Given the description of an element on the screen output the (x, y) to click on. 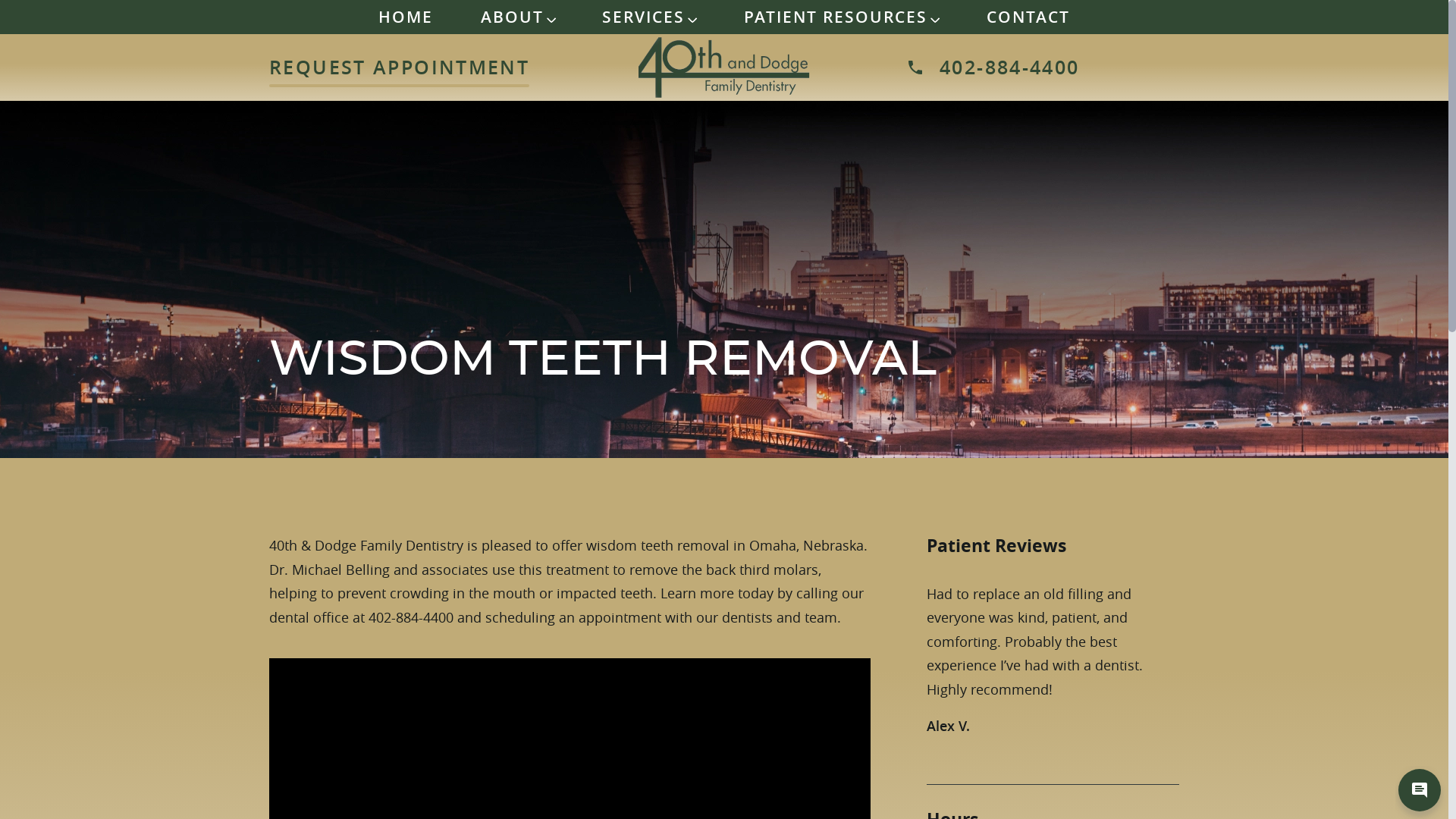
ABOUT Element type: text (518, 17)
402-884-4400 Element type: text (1042, 67)
CONTACT Element type: text (1027, 17)
SERVICES Element type: text (649, 17)
PATIENT RESOURCES Element type: text (841, 17)
REQUEST APPOINTMENT Element type: text (399, 67)
HOME Element type: text (405, 17)
